Given the description of an element on the screen output the (x, y) to click on. 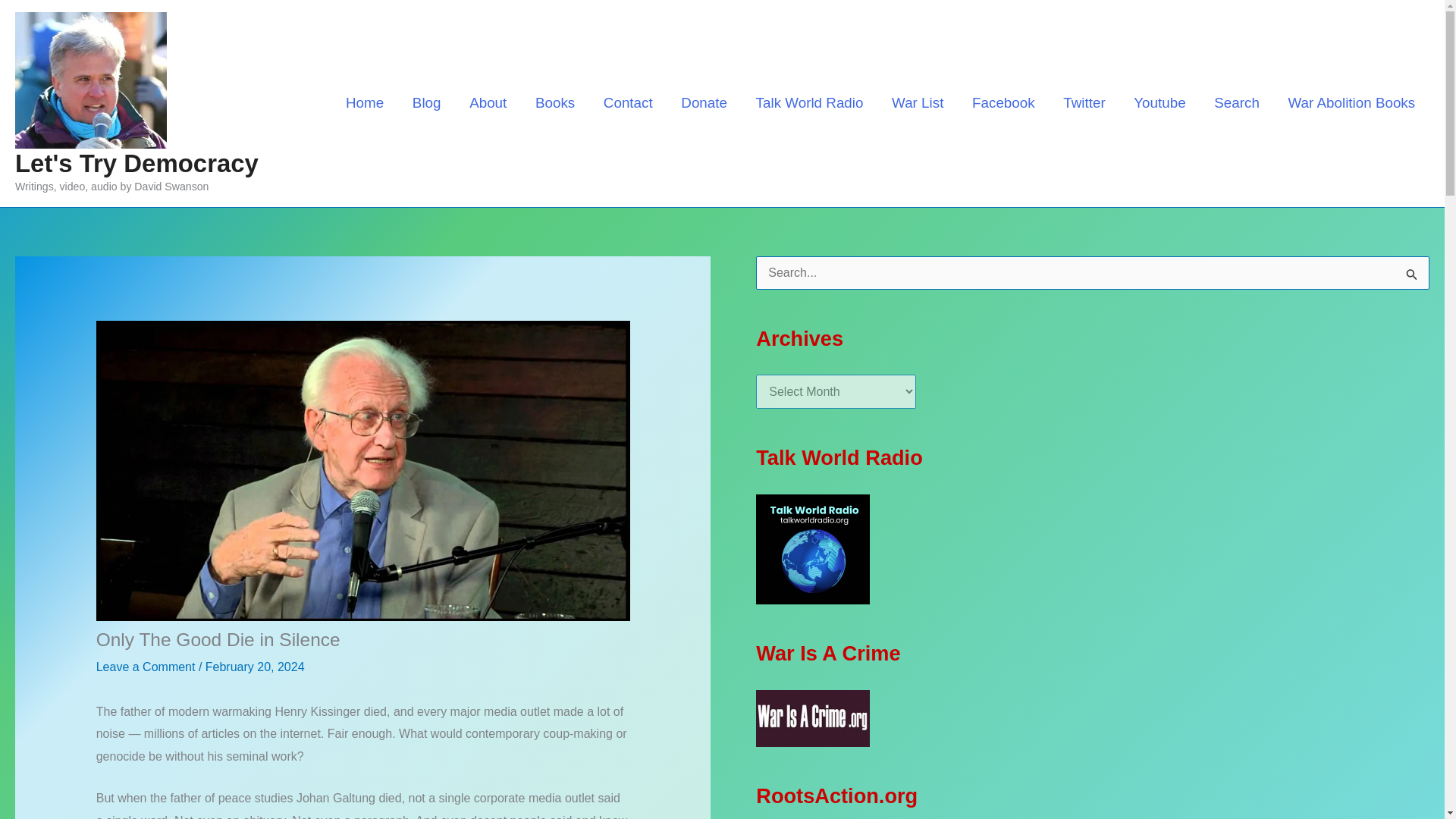
Home (364, 102)
Facebook (1003, 102)
Search (1235, 102)
Twitter (1083, 102)
Leave a Comment (145, 666)
About (487, 102)
Let's Try Democracy (136, 163)
Contact (627, 102)
Talk World Radio (809, 102)
Blog (425, 102)
War List (917, 102)
War Abolition Books (1351, 102)
Youtube (1159, 102)
Donate (703, 102)
Books (555, 102)
